Given the description of an element on the screen output the (x, y) to click on. 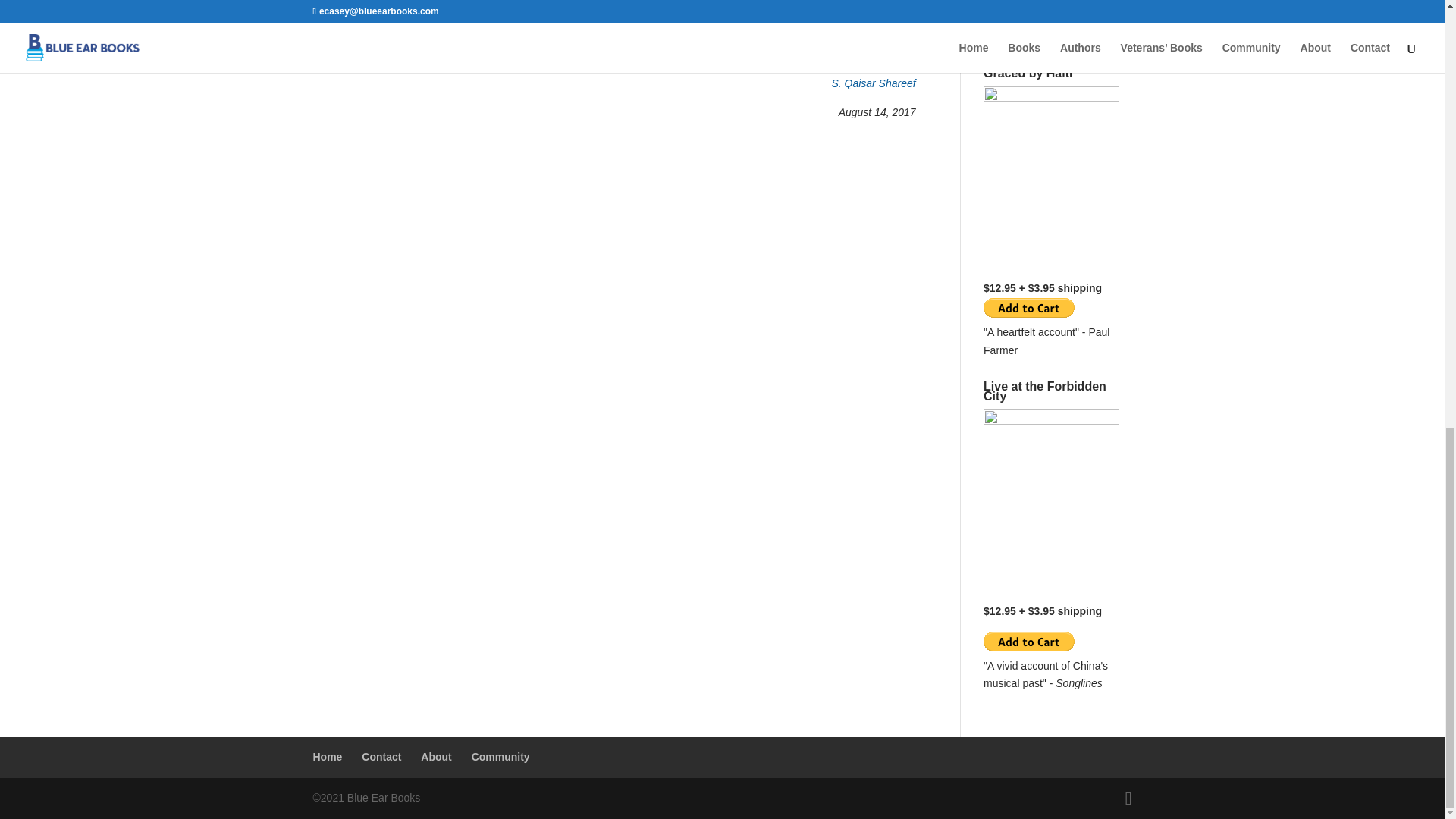
About (435, 756)
Home (327, 756)
Community (500, 756)
S. Qaisar Shareef (873, 82)
Contact (381, 756)
